Given the description of an element on the screen output the (x, y) to click on. 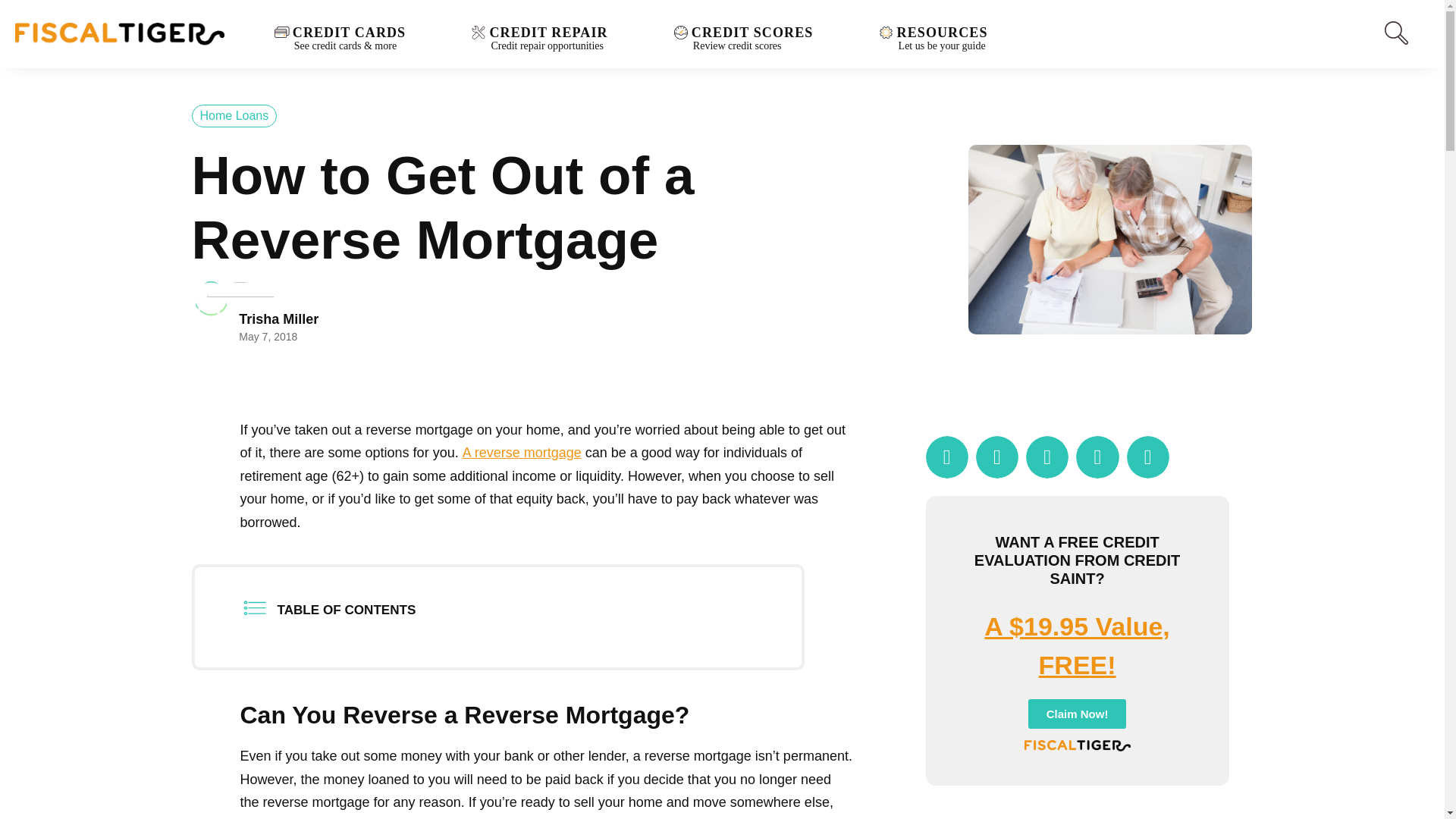
Trisha Miller (753, 35)
